Given the description of an element on the screen output the (x, y) to click on. 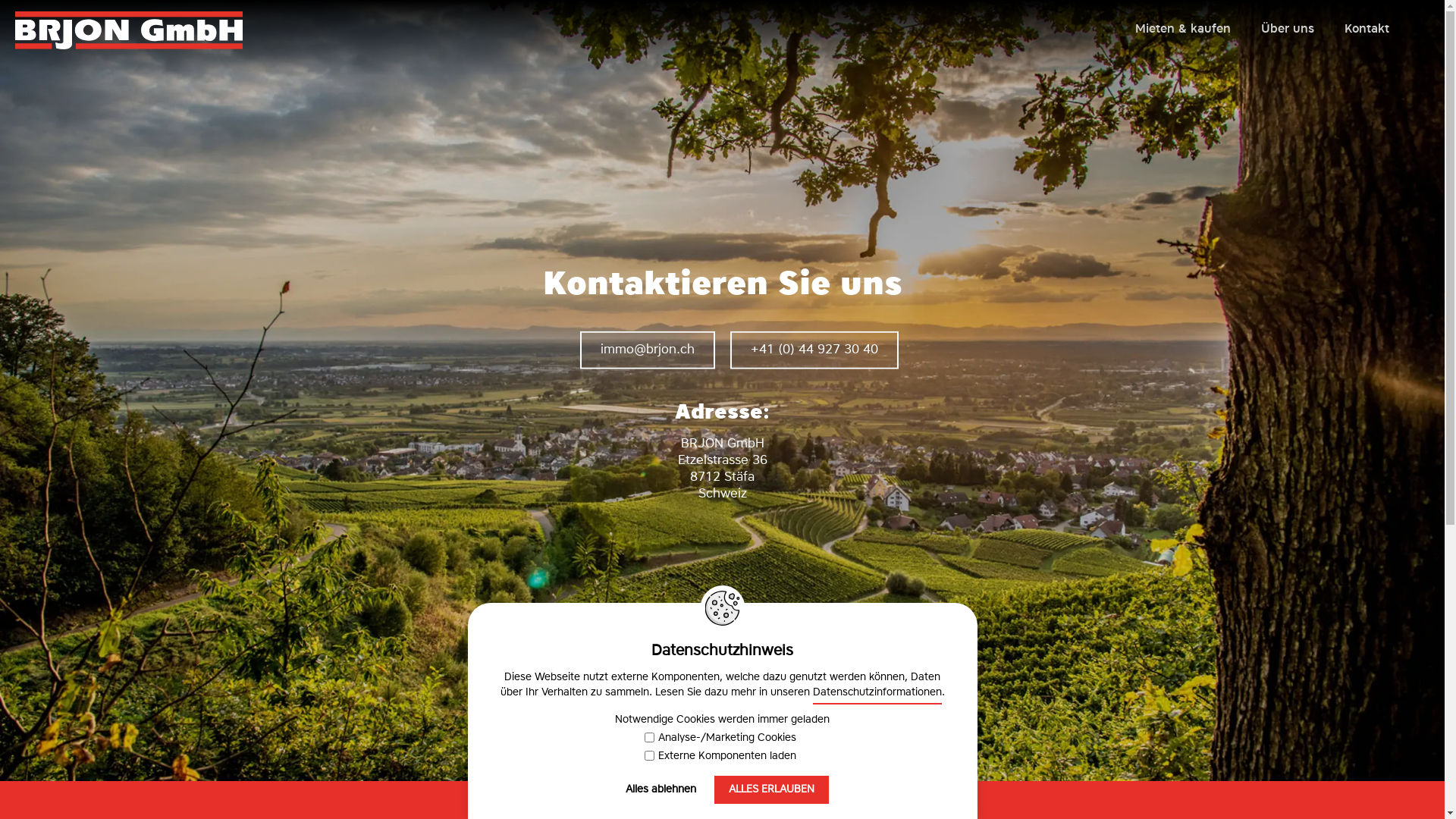
ALLES ERLAUBEN Element type: text (771, 789)
Mieten & kaufen Element type: text (1182, 34)
Zur Startseite Element type: hover (128, 49)
Datenschutzinformationen Element type: text (876, 695)
mmbrjnch Element type: text (646, 350)
Alles ablehnen Element type: text (660, 789)
+41 (0) 44 927 30 40 Element type: text (813, 350)
Kontakt Element type: text (1366, 34)
